Given the description of an element on the screen output the (x, y) to click on. 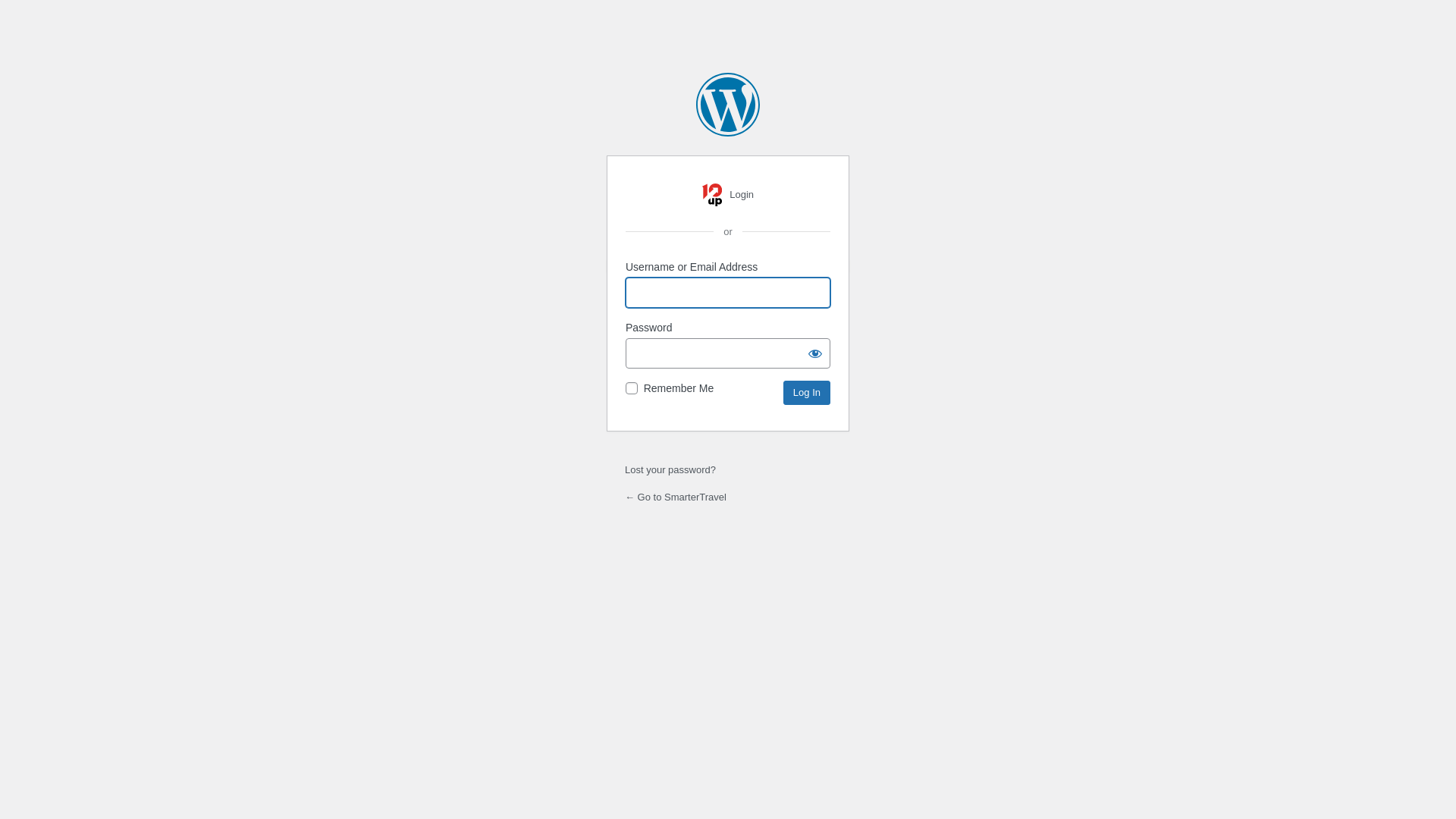
Lost your password? Element type: text (669, 469)
Login Element type: text (727, 194)
Log In Element type: text (806, 392)
Powered by WordPress Element type: text (727, 104)
